Given the description of an element on the screen output the (x, y) to click on. 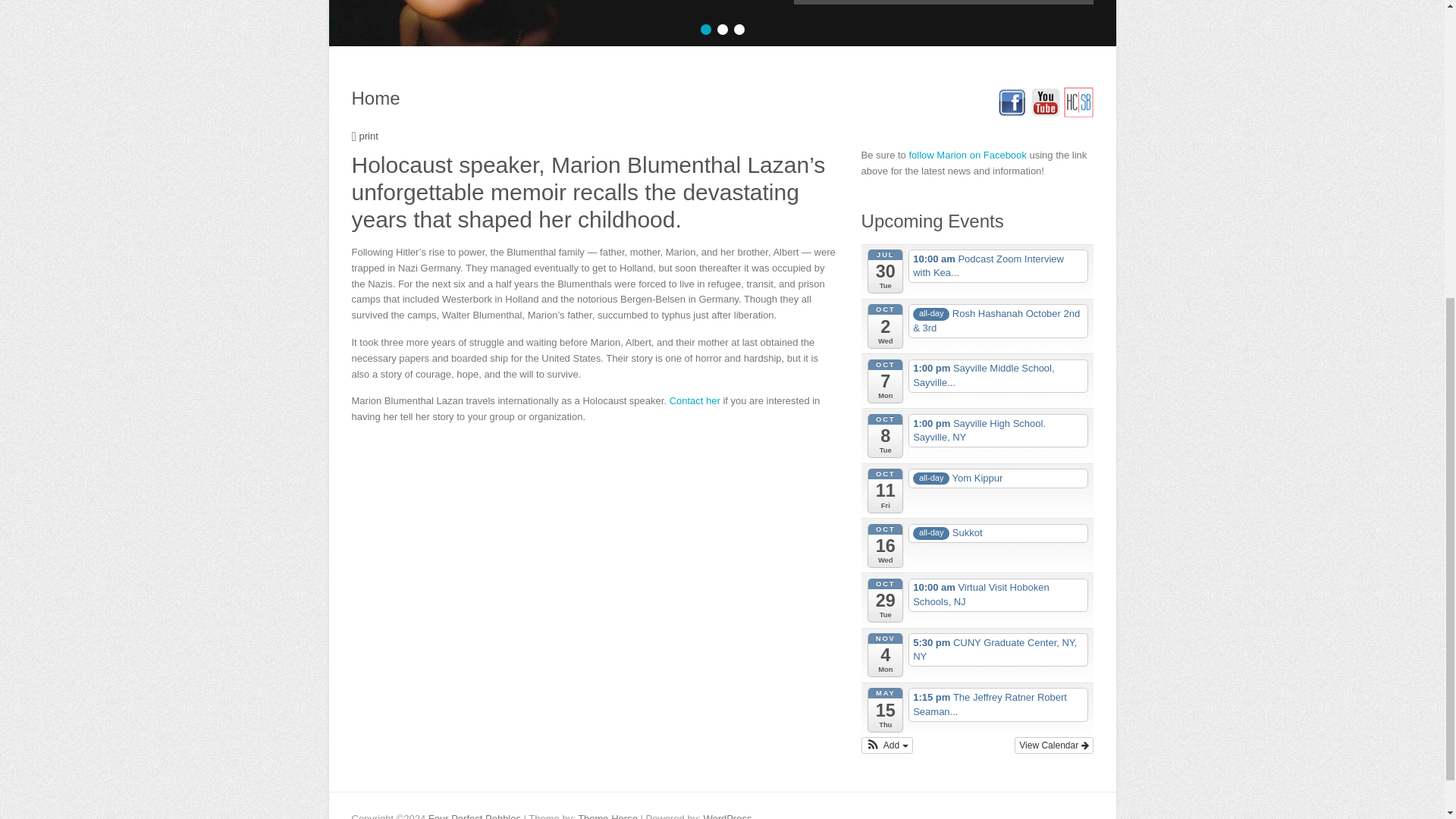
About Marion (722, 22)
